Given the description of an element on the screen output the (x, y) to click on. 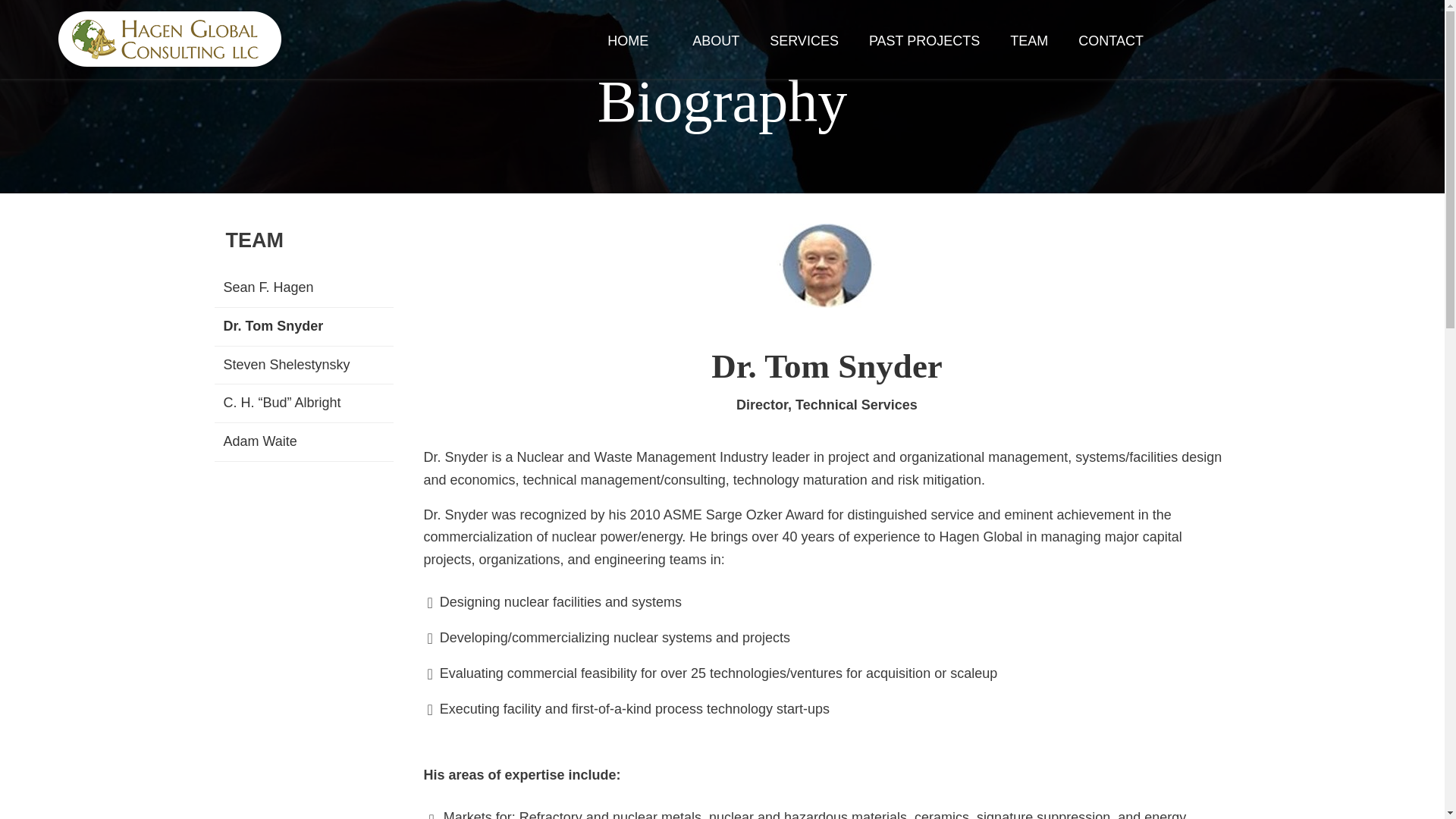
Adam Waite (303, 442)
ABOUT (716, 38)
Dr. Tom Snyder (303, 326)
Dr. Tom Snyder (826, 265)
PAST PROJECTS (924, 39)
SERVICES (804, 39)
CONTACT (1110, 39)
Sean F. Hagen (303, 288)
Steven Shelestynsky (303, 365)
TEAM (1029, 39)
